Given the description of an element on the screen output the (x, y) to click on. 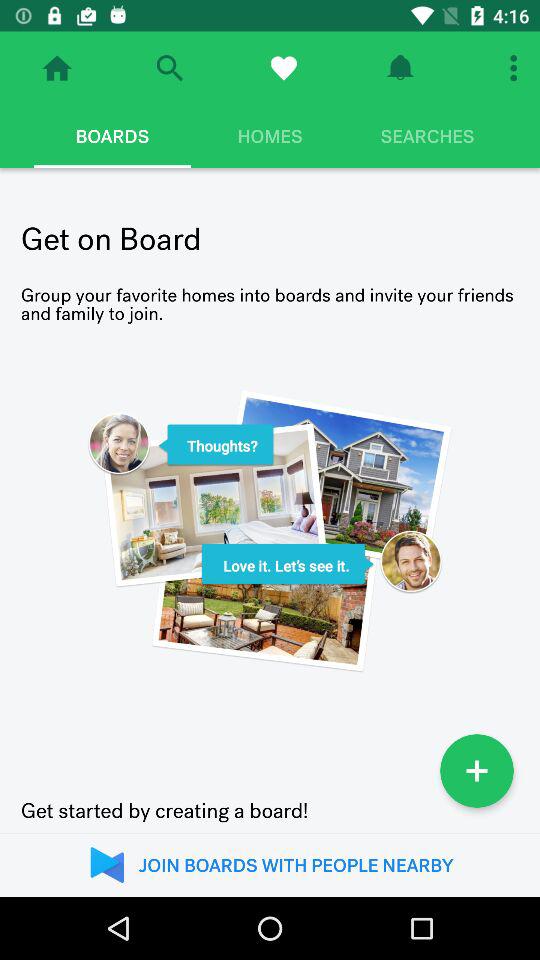
navigate to favorites (283, 68)
